Given the description of an element on the screen output the (x, y) to click on. 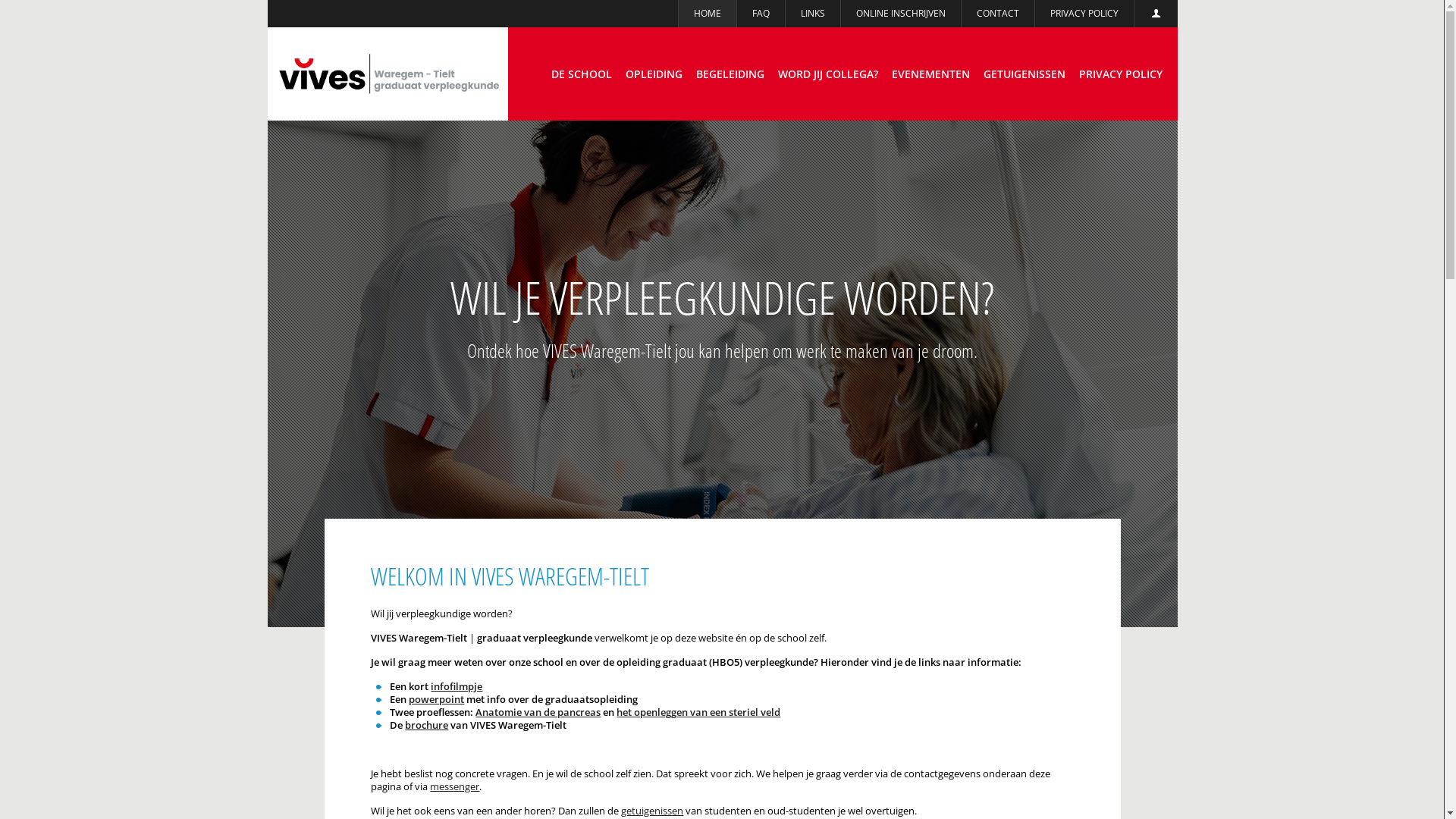
CONTACT Element type: text (997, 13)
PRIVACY POLICY Element type: text (1083, 13)
GETUIGENISSEN Element type: text (1024, 74)
Anatomie van de pancreas Element type: text (537, 711)
BEGELEIDING Element type: text (729, 74)
ONLINE INSCHRIJVEN Element type: text (900, 13)
powerpoint Element type: text (436, 699)
het openleggen van een steriel veld Element type: text (698, 711)
Wil je verpleegkundige worden? Element type: hover (721, 373)
PRIVACY POLICY Element type: text (1120, 74)
brochure Element type: text (426, 724)
WORD JIJ COLLEGA? Element type: text (827, 74)
DE SCHOOL Element type: text (581, 74)
infofilmpje Element type: text (456, 686)
FAQ Element type: text (760, 13)
HOME Element type: text (706, 13)
OPLEIDING Element type: text (653, 74)
LINKS Element type: text (812, 13)
EVENEMENTEN Element type: text (929, 74)
getuigenissen Element type: text (652, 810)
messenger Element type: text (454, 786)
